Given the description of an element on the screen output the (x, y) to click on. 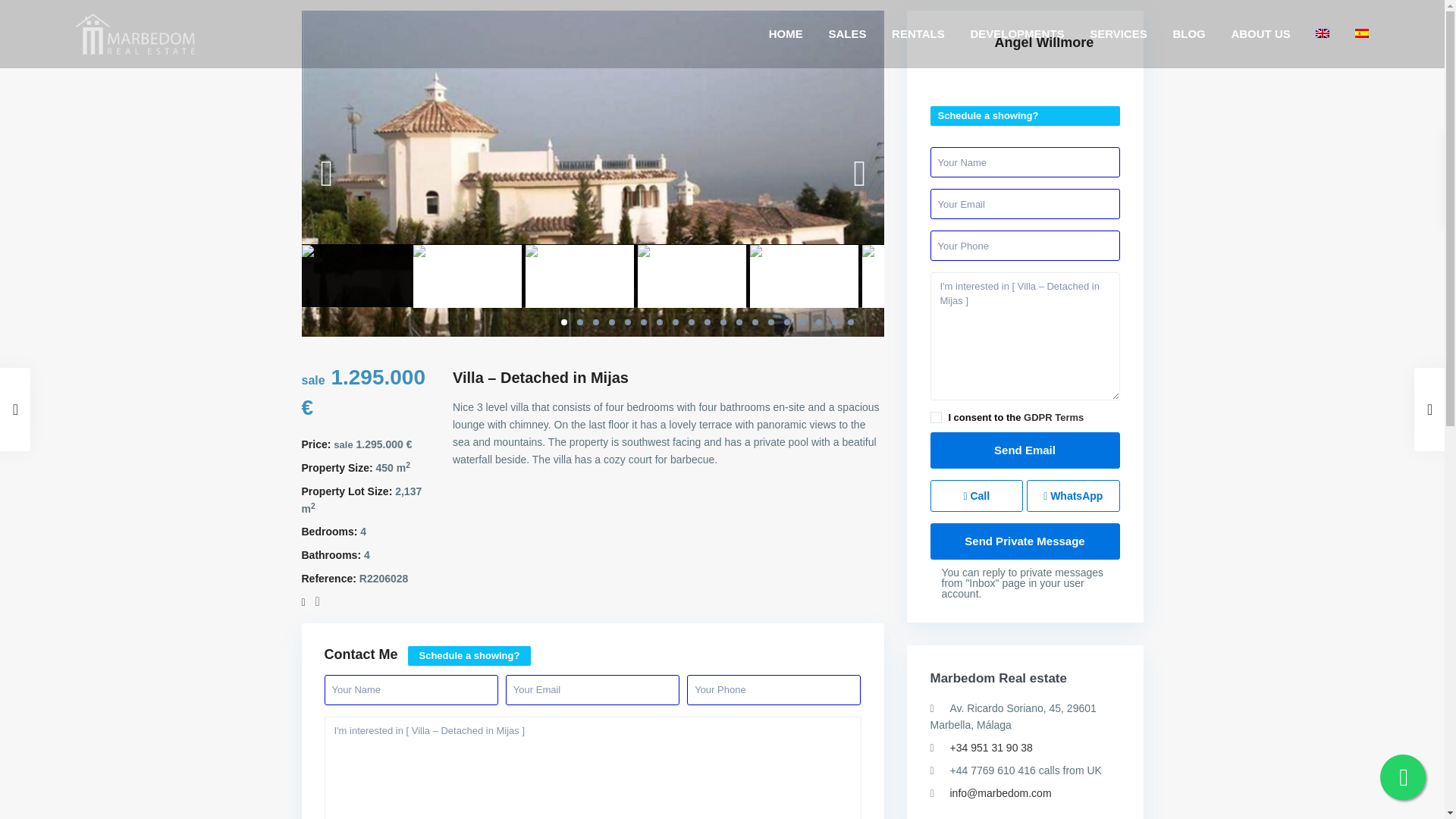
Rentals in Marbella (918, 33)
Send Email (1024, 450)
on (935, 416)
New developments  (1016, 33)
RENTALS (918, 33)
Send Private Message (1024, 541)
